Given the description of an element on the screen output the (x, y) to click on. 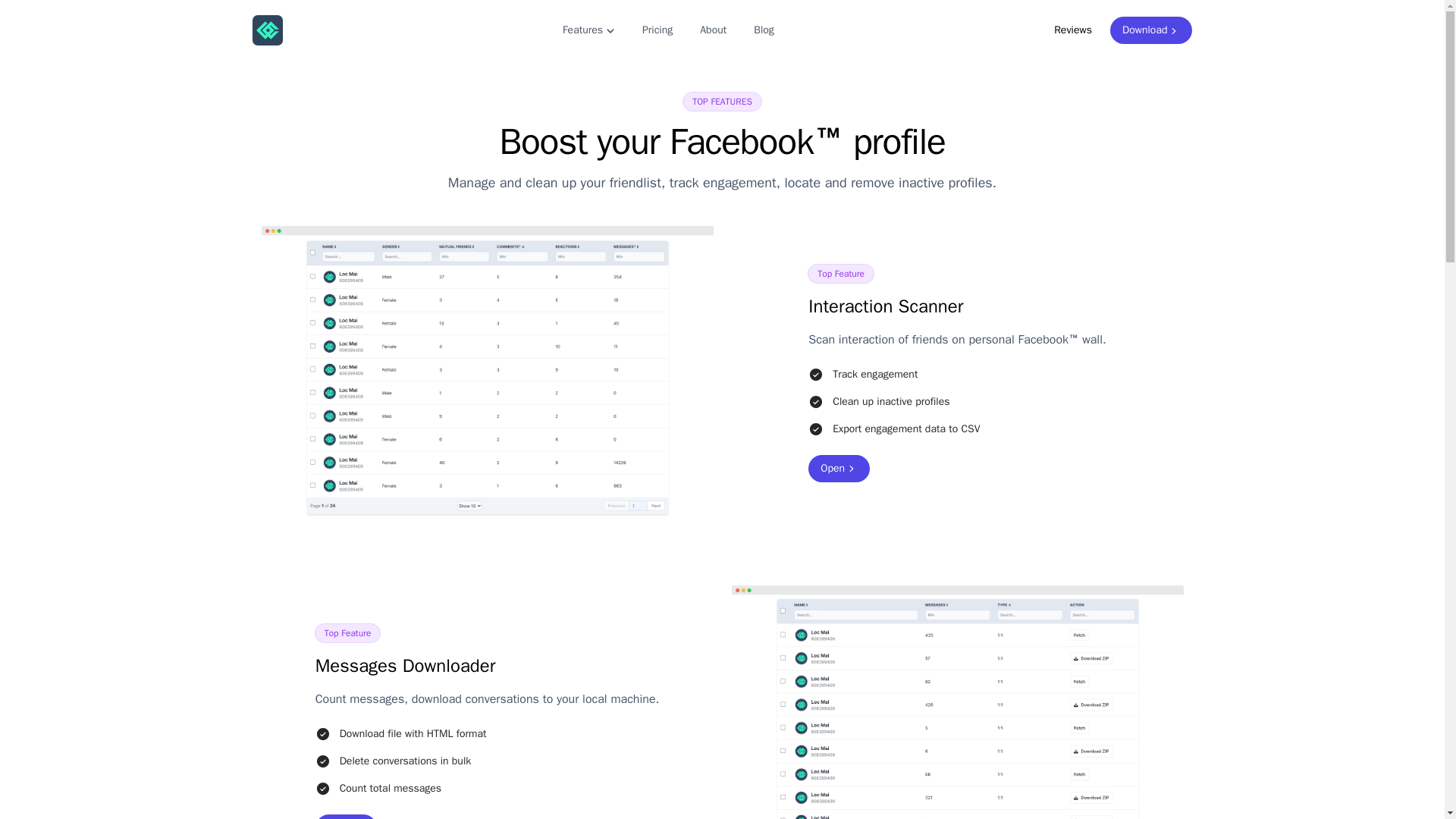
Download (1150, 30)
Features (588, 30)
Blog (763, 30)
Pricing (657, 30)
Open (838, 468)
About (712, 30)
Reviews (1072, 29)
Open (346, 816)
